Given the description of an element on the screen output the (x, y) to click on. 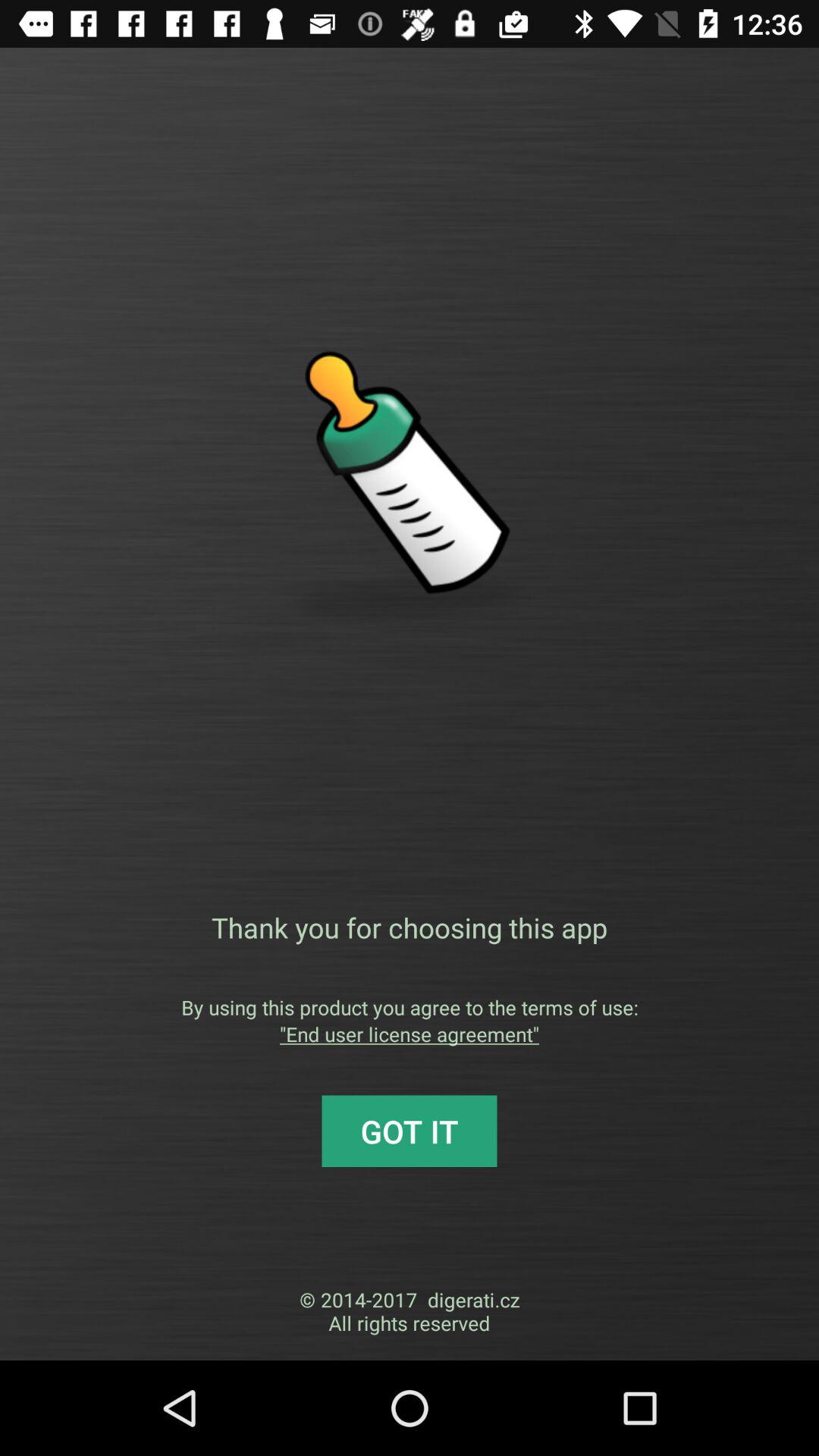
scroll to the by using this icon (409, 1007)
